Given the description of an element on the screen output the (x, y) to click on. 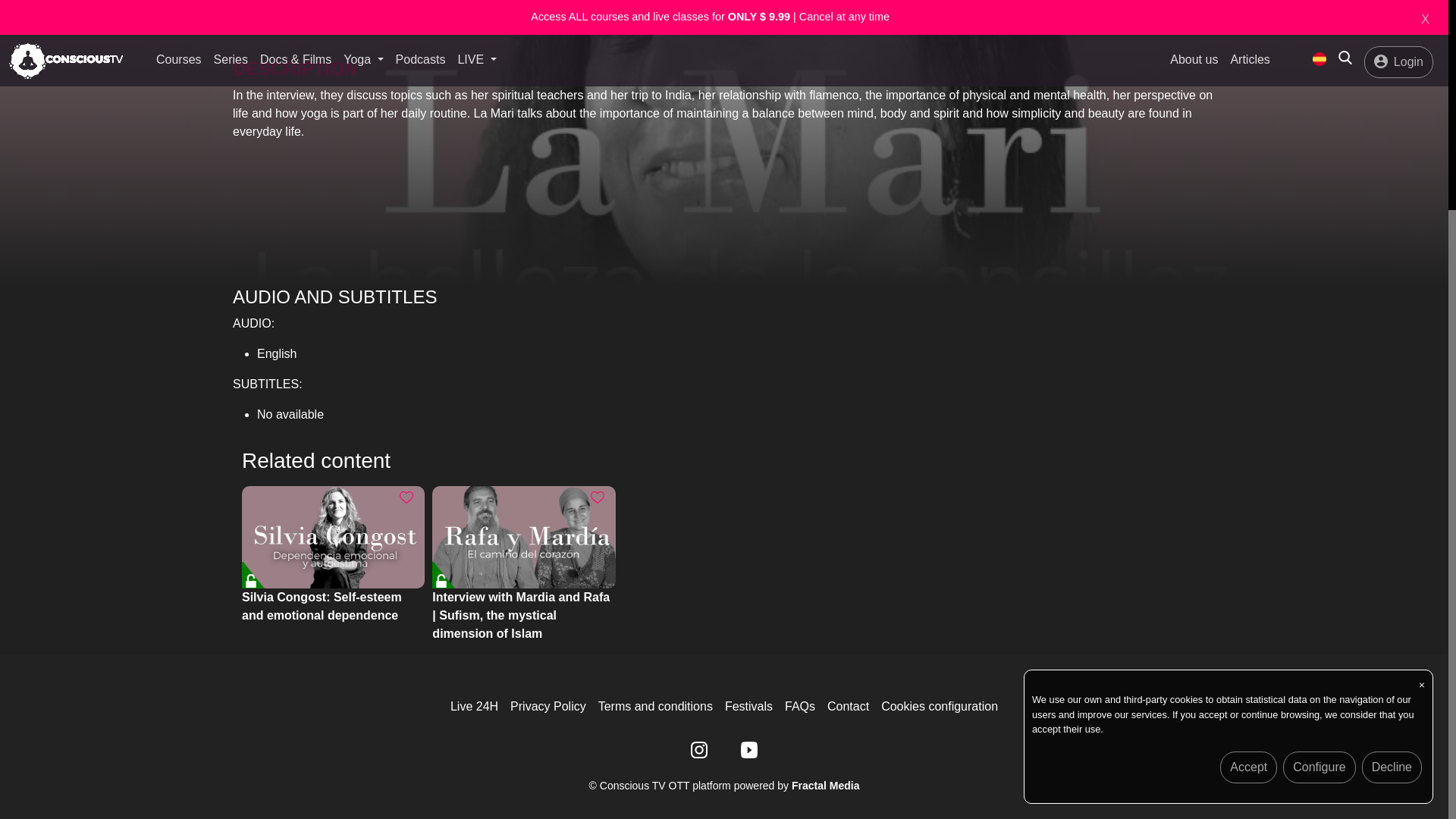
Terms and conditions (655, 706)
Add to favorites (405, 497)
Festivals (748, 706)
Privacy Policy (547, 706)
Contact (848, 706)
Silvia Congost: Self-esteem and emotional dependence (333, 537)
FAQs (799, 706)
Live 24H (473, 706)
Youtube (749, 748)
Add to favorites (597, 497)
Instagram (698, 748)
Decline (1391, 484)
Cookies configuration (939, 706)
Configure (1318, 484)
Accept (1248, 484)
